Given the description of an element on the screen output the (x, y) to click on. 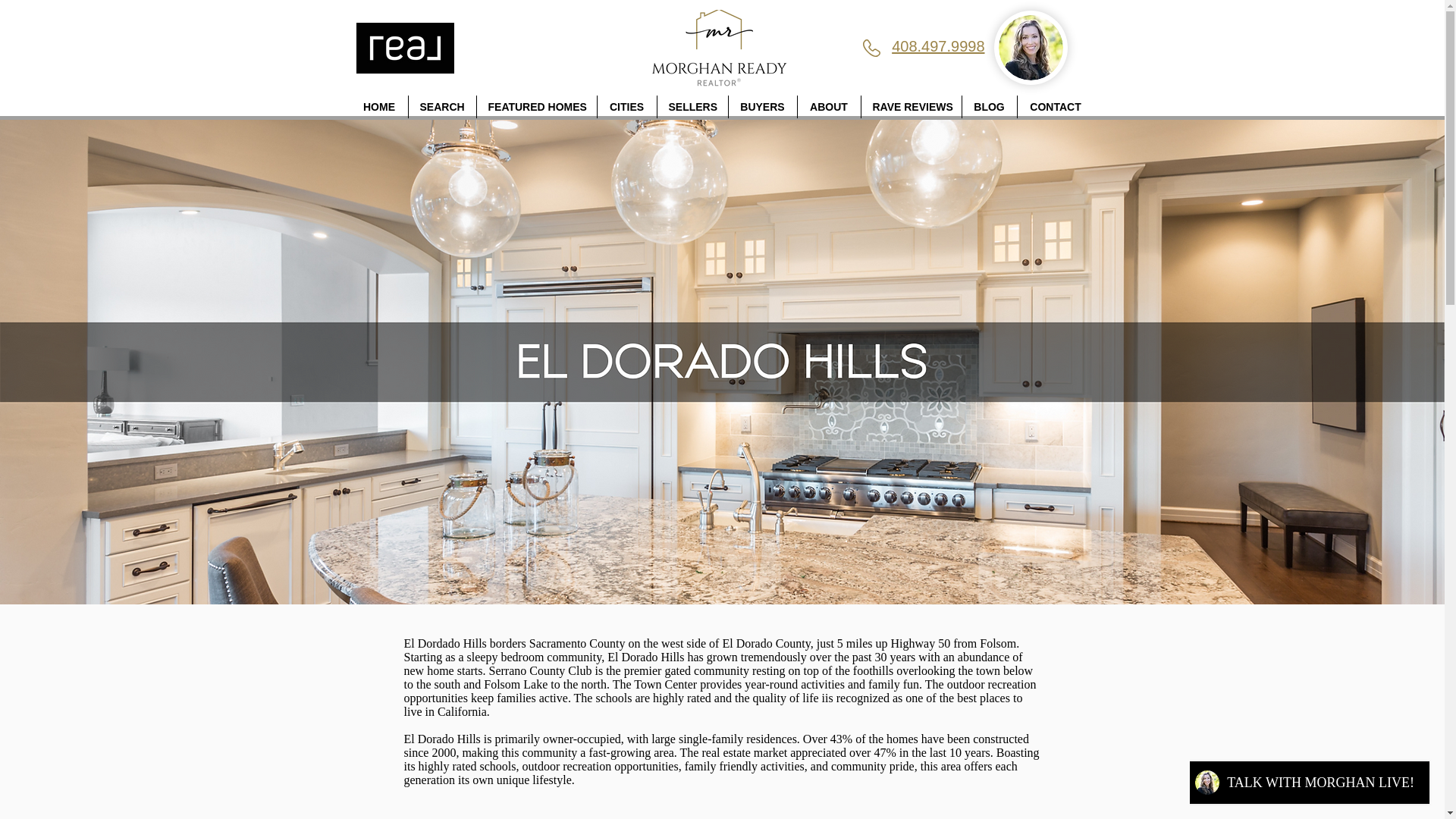
RAVE REVIEWS (910, 106)
CONTACT (1055, 106)
408.497.9998 (937, 45)
FEATURED HOMES (535, 106)
HOME (378, 106)
SEARCH (441, 106)
BLOG (988, 106)
BUYERS (762, 106)
SELLERS (691, 106)
ABOUT (828, 106)
